Given the description of an element on the screen output the (x, y) to click on. 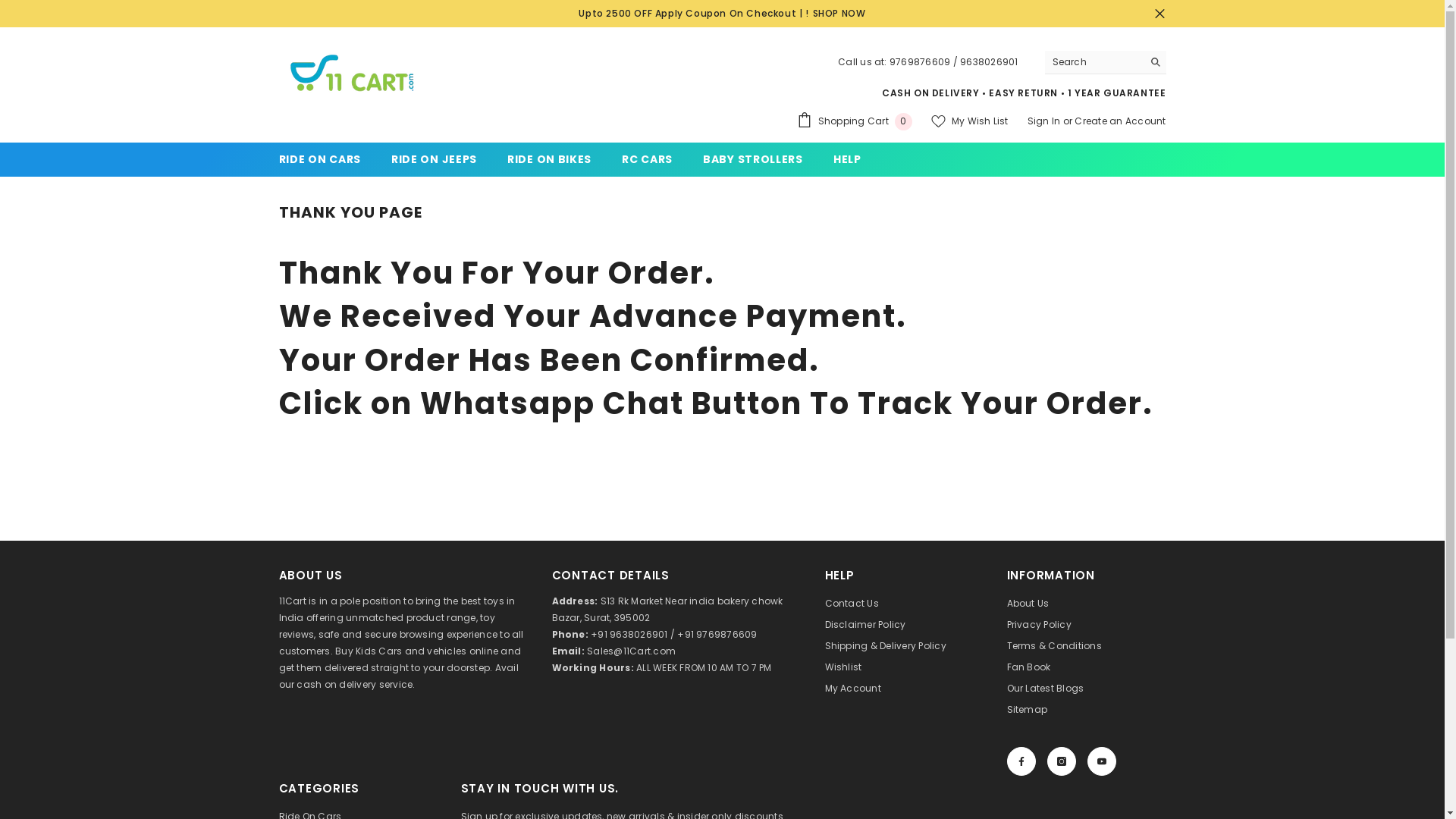
RIDE ON JEEPS Element type: text (434, 159)
BABY STROLLERS Element type: text (752, 159)
Shopping Cart 0
0 items Element type: text (854, 121)
RIDE ON CARS Element type: text (319, 159)
About Us Element type: text (1028, 603)
RC CARS Element type: text (646, 159)
Shipping & Delivery Policy Element type: text (885, 645)
9638026901 Element type: text (988, 61)
SHOP NOW Element type: text (839, 13)
9769876609 Element type: text (919, 61)
Our Latest Blogs Element type: text (1045, 688)
Sitemap Element type: text (1027, 709)
Privacy Policy Element type: text (1039, 624)
Wishlist Element type: text (843, 666)
HELP Element type: text (847, 159)
Disclaimer Policy Element type: text (865, 624)
Sign In Element type: text (1045, 120)
My Account Element type: text (853, 688)
Facebook Element type: text (1021, 760)
Fan Book Element type: text (1029, 666)
Contact Us Element type: text (851, 603)
Terms & Conditions Element type: text (1054, 645)
Instagram Element type: text (1060, 760)
Create an Account Element type: text (1119, 120)
Close Element type: text (1158, 13)
RIDE ON BIKES Element type: text (549, 159)
YouTube Element type: text (1101, 760)
My Wish List Element type: text (969, 121)
